Given the description of an element on the screen output the (x, y) to click on. 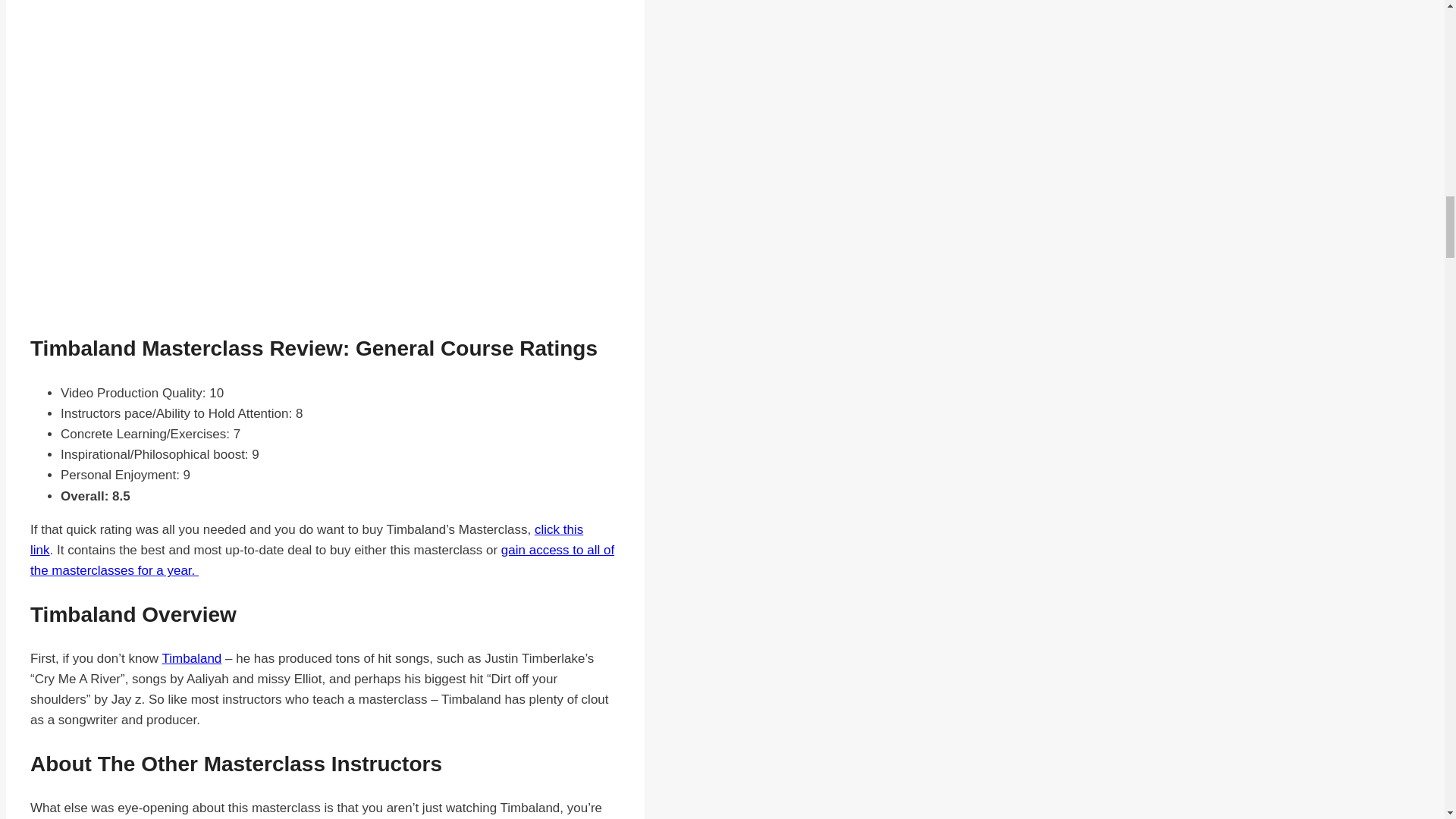
click this link (306, 539)
gain access to all of the masterclasses for a year.  (322, 560)
